Given the description of an element on the screen output the (x, y) to click on. 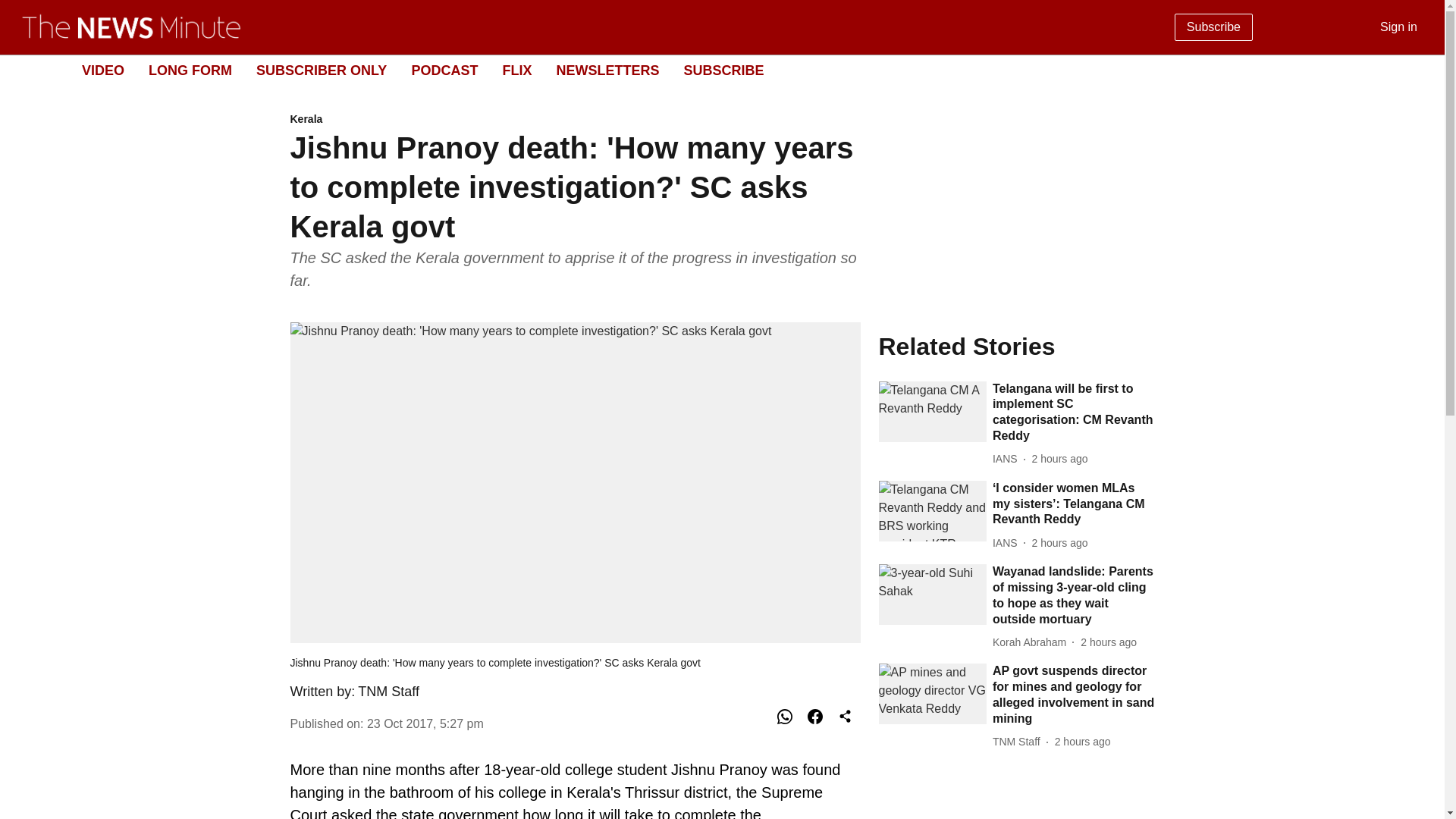
FLIX (516, 70)
2017-10-23 09:27 (424, 723)
LONG FORM (189, 70)
Kerala (574, 119)
SUBSCRIBE (722, 70)
VIDEO (102, 70)
Dark Mode (1415, 70)
PODCAST (443, 70)
TNM Staff (388, 691)
NEWSLETTERS (607, 70)
SUBSCRIBER ONLY (321, 70)
